Given the description of an element on the screen output the (x, y) to click on. 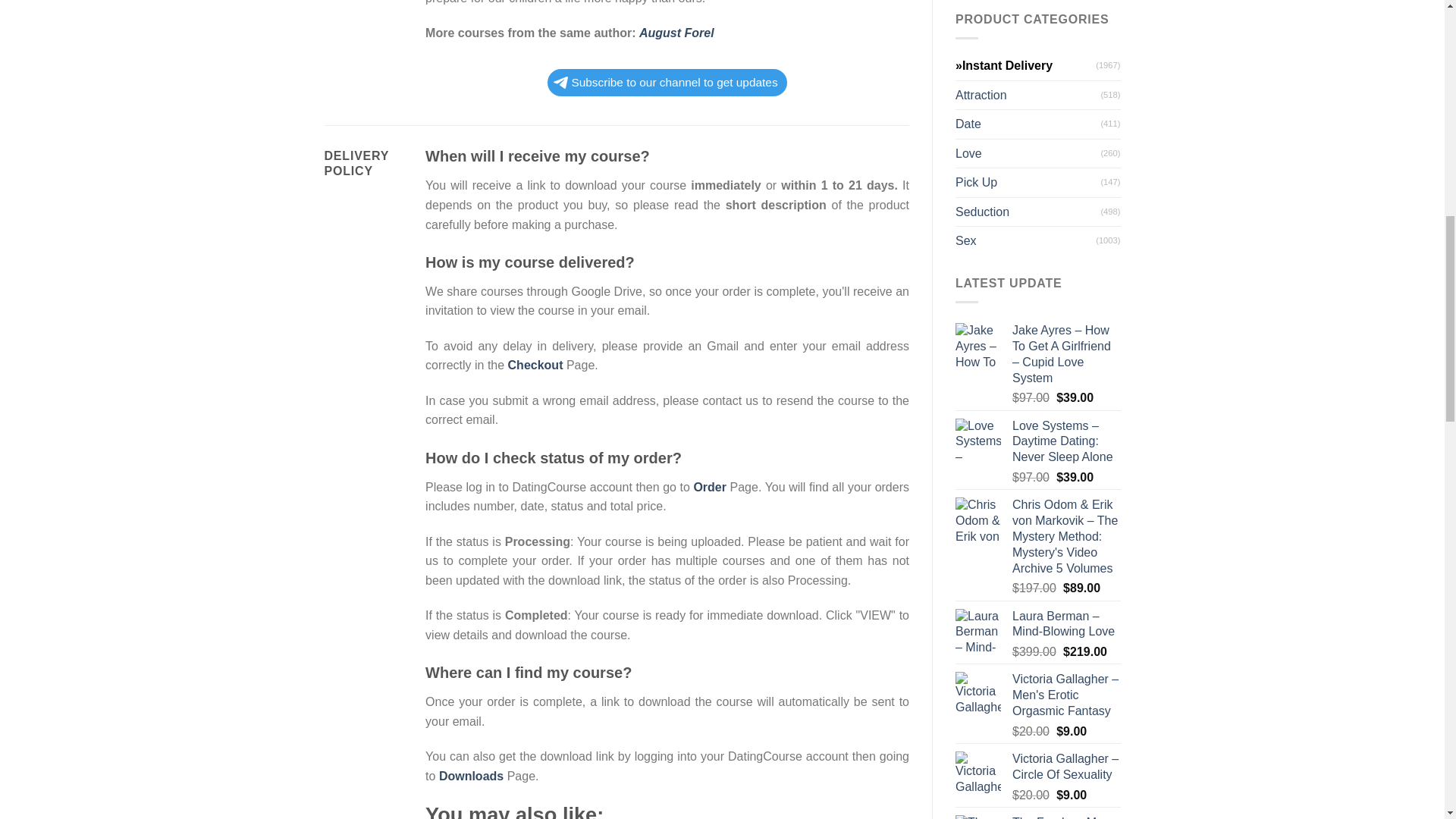
Pick Up (1027, 182)
Love (1027, 153)
Date (1027, 123)
Attraction (1027, 95)
Seduction (1027, 212)
